Given the description of an element on the screen output the (x, y) to click on. 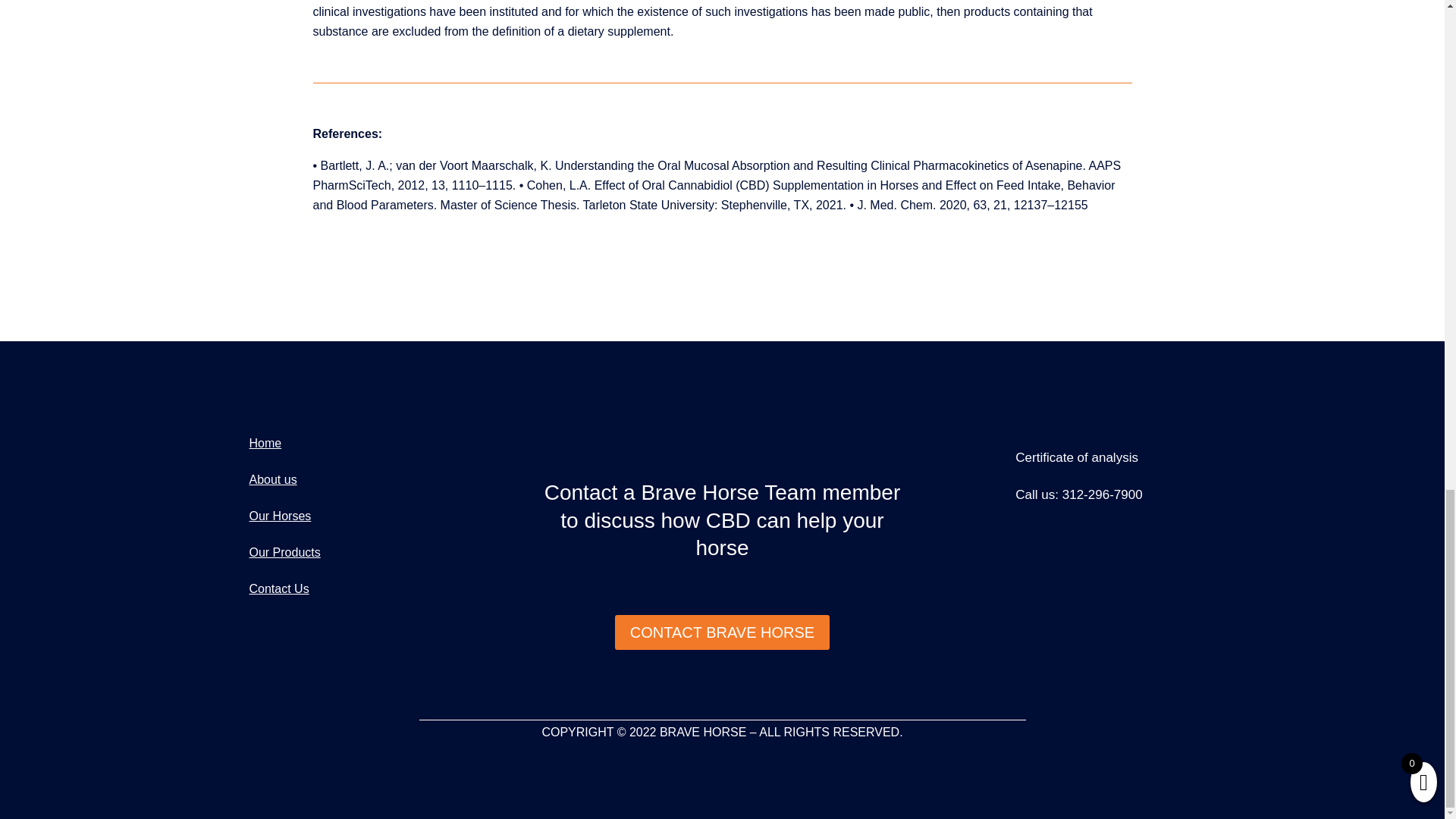
Our Horses (279, 515)
About us (272, 479)
Home (264, 442)
